Given the description of an element on the screen output the (x, y) to click on. 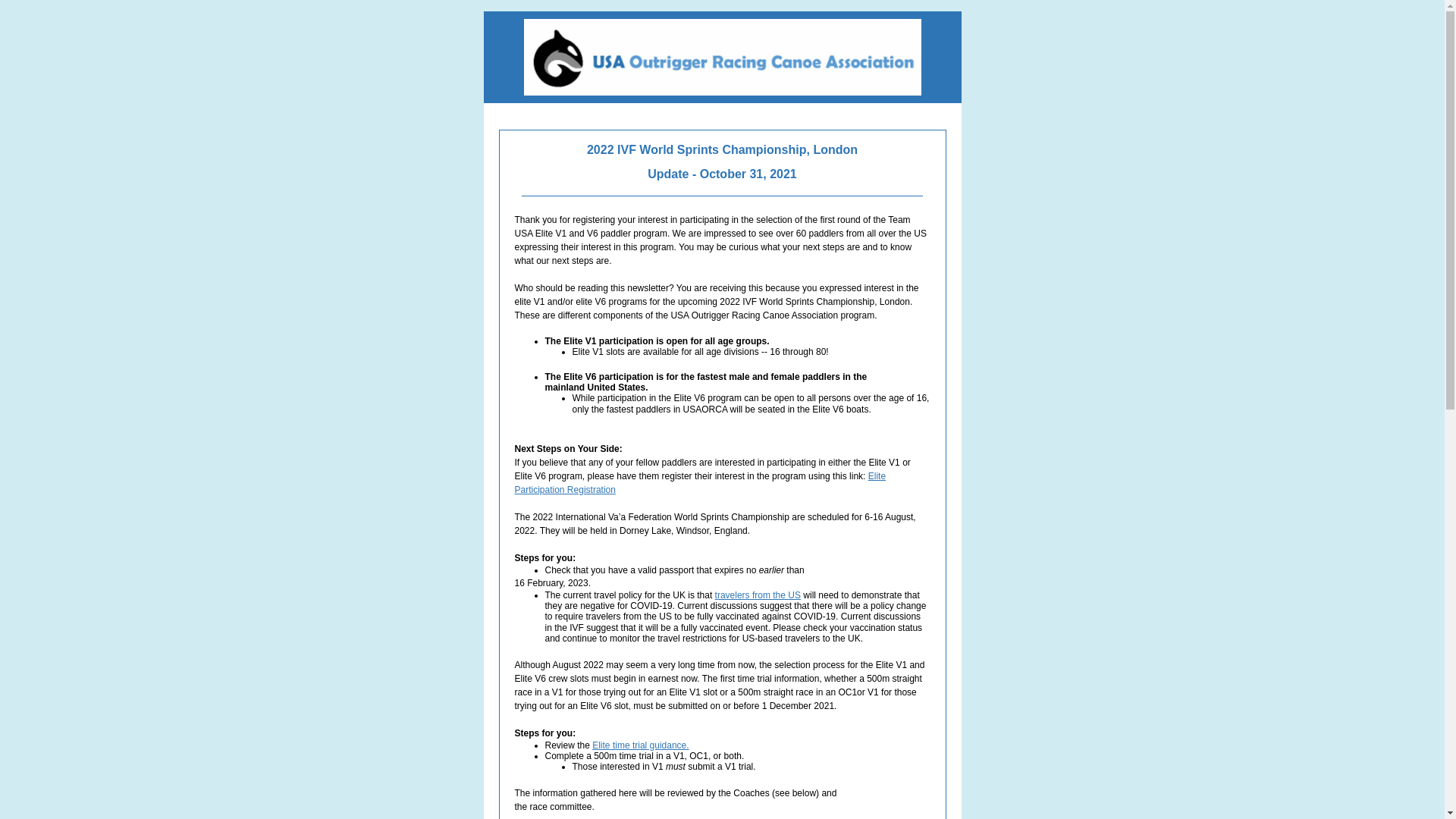
Elite time trial guidance. (640, 745)
Elite Participation Registration (699, 482)
IVF World Sprints Championship, London (737, 149)
travelers from the US (757, 594)
Update - October 31, 2021 (721, 173)
